Given the description of an element on the screen output the (x, y) to click on. 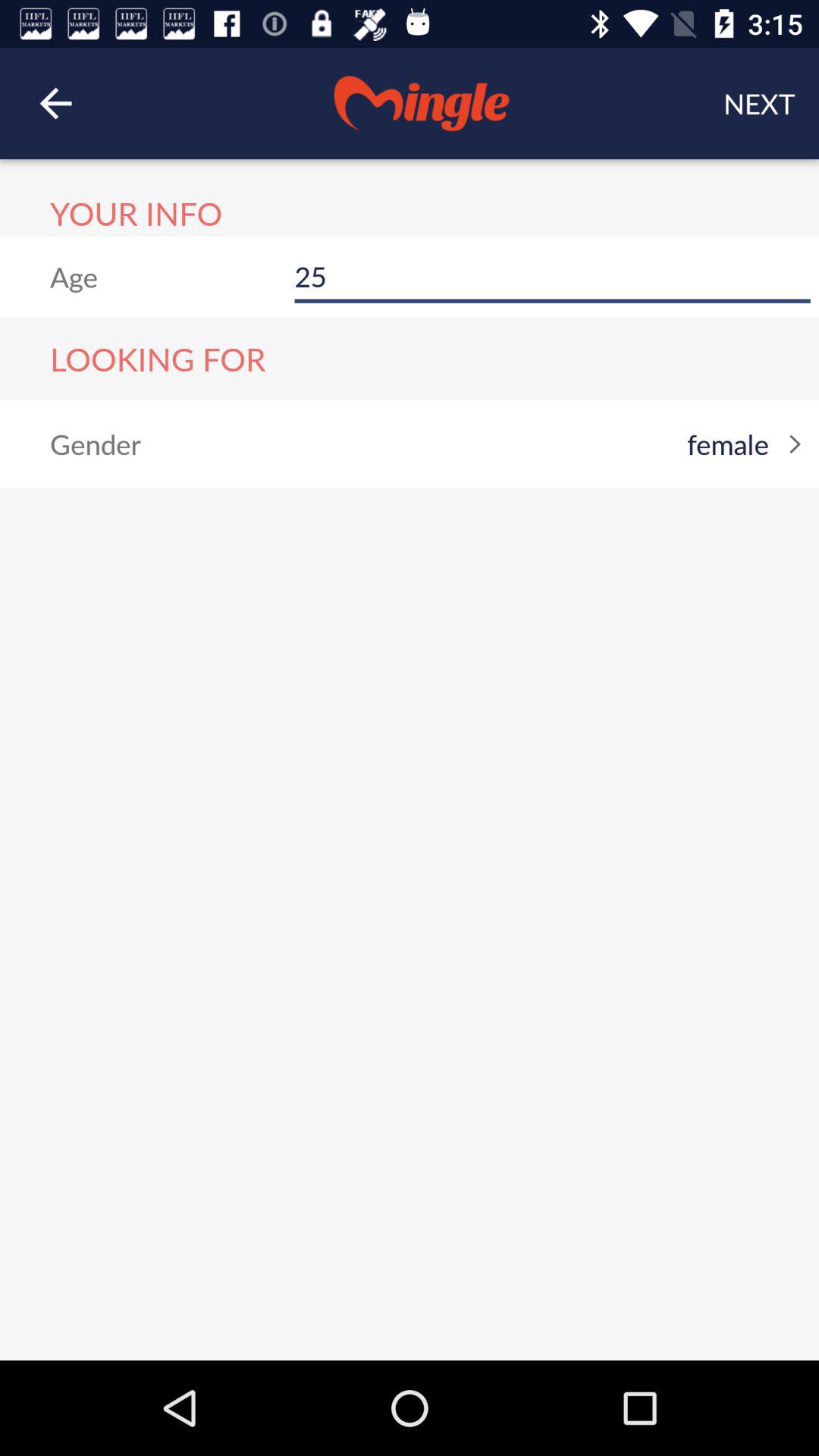
swipe to 25 (552, 276)
